Given the description of an element on the screen output the (x, y) to click on. 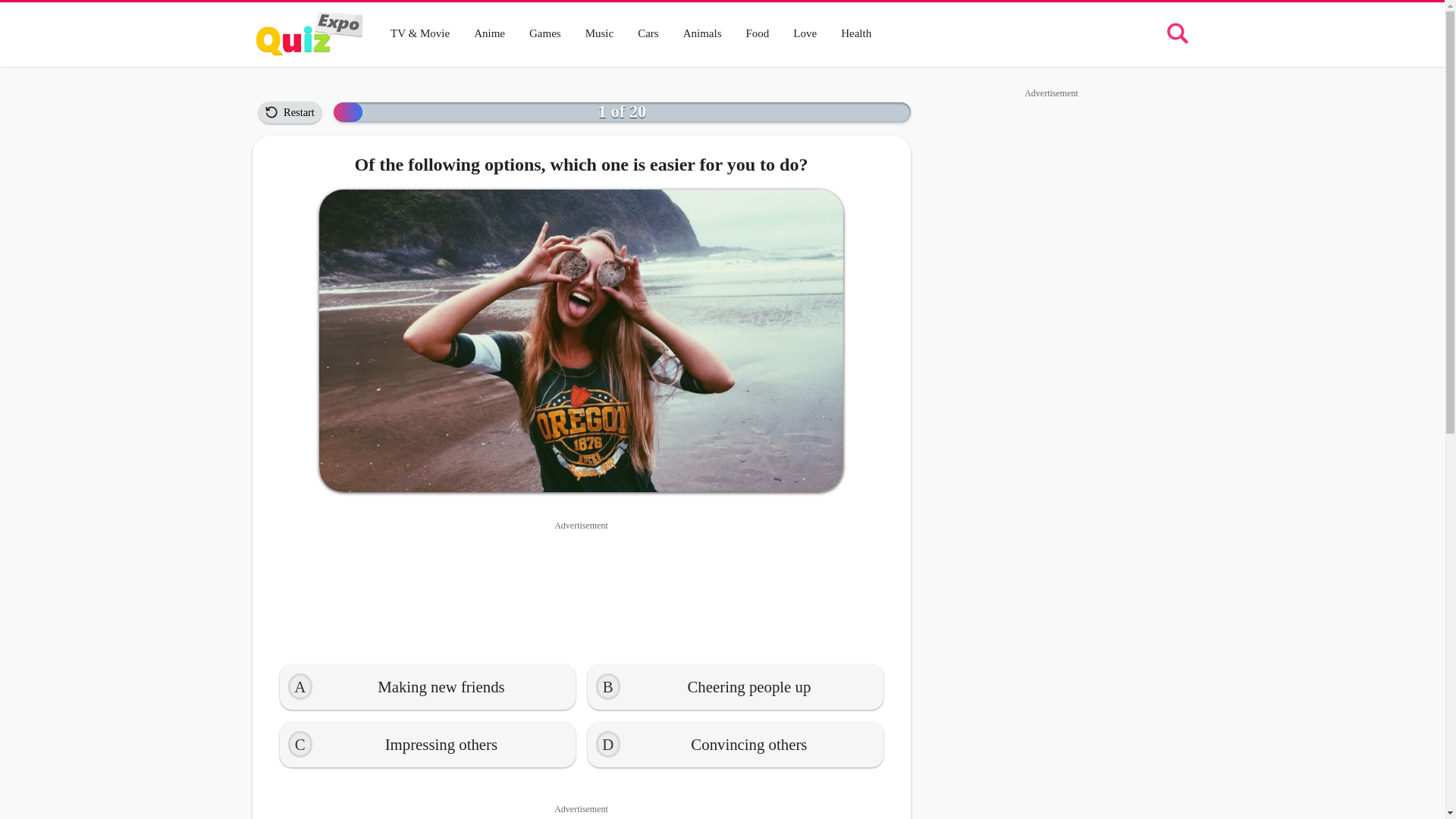
Love (804, 33)
Health (855, 33)
Games (544, 33)
Animals (702, 33)
Cars (648, 33)
Restart (289, 112)
Food (756, 33)
Music (599, 33)
Anime (488, 33)
Quiz Expo (308, 33)
